Given the description of an element on the screen output the (x, y) to click on. 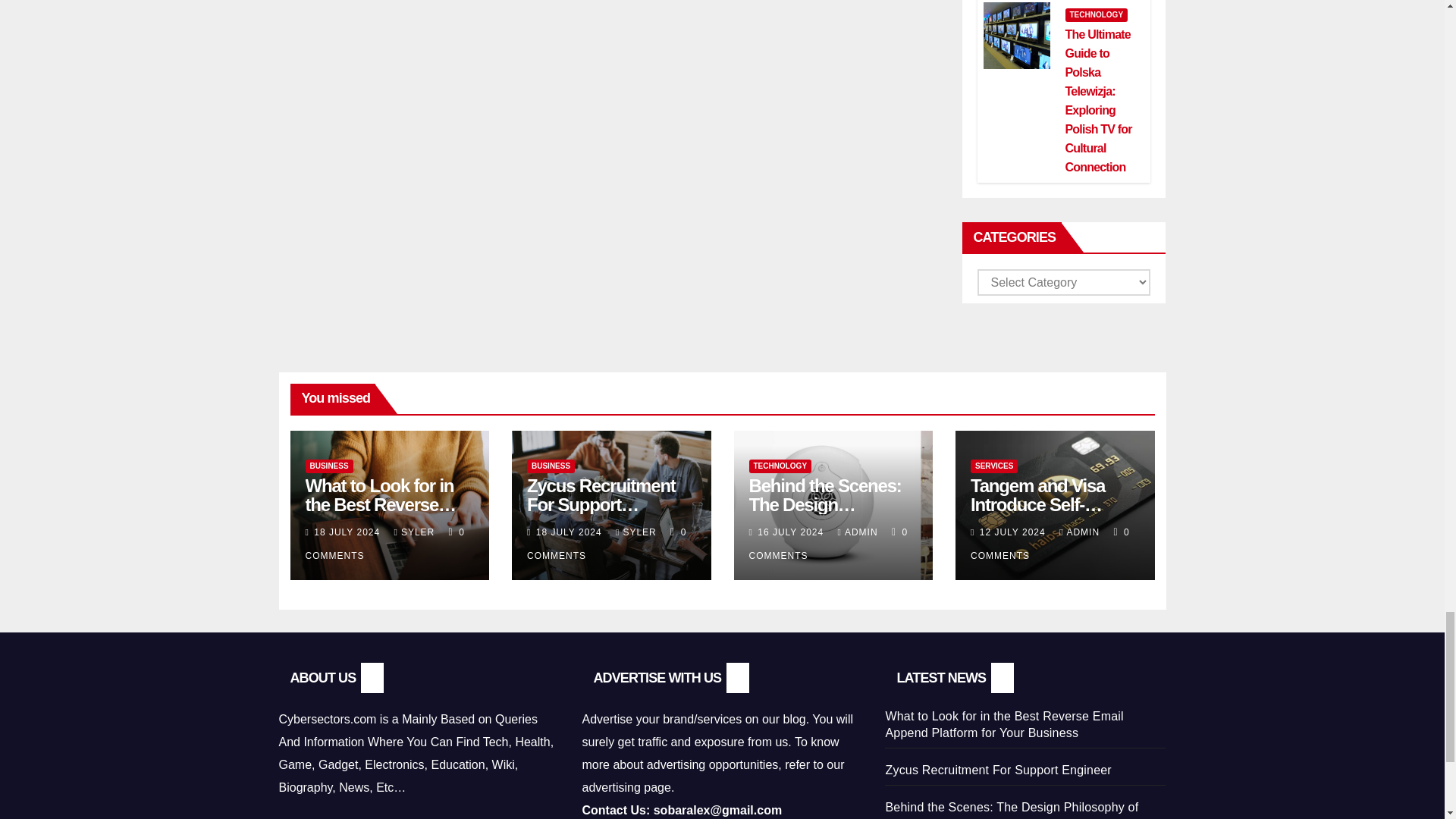
Permalink to: Zycus Recruitment For Support Engineer (601, 504)
